Given the description of an element on the screen output the (x, y) to click on. 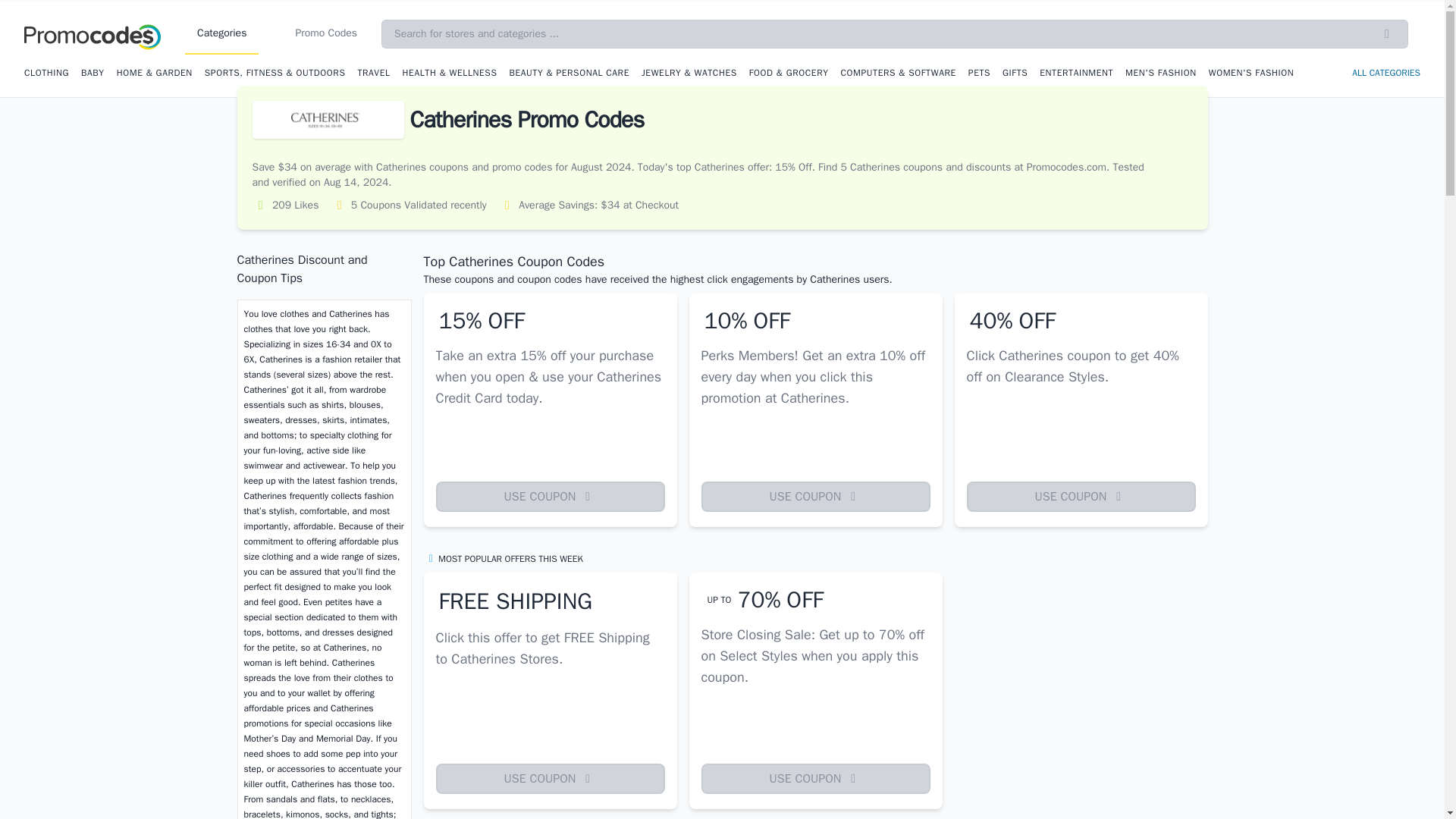
ALL CATEGORIES (1386, 72)
GIFTS (1015, 72)
Baby coupons (92, 72)
CLOTHING (46, 72)
Clothing coupons (46, 72)
Promo Codes (325, 33)
ENTERTAINMENT (1076, 72)
PETS (979, 72)
Travel coupons (373, 72)
BABY (92, 72)
